Given the description of an element on the screen output the (x, y) to click on. 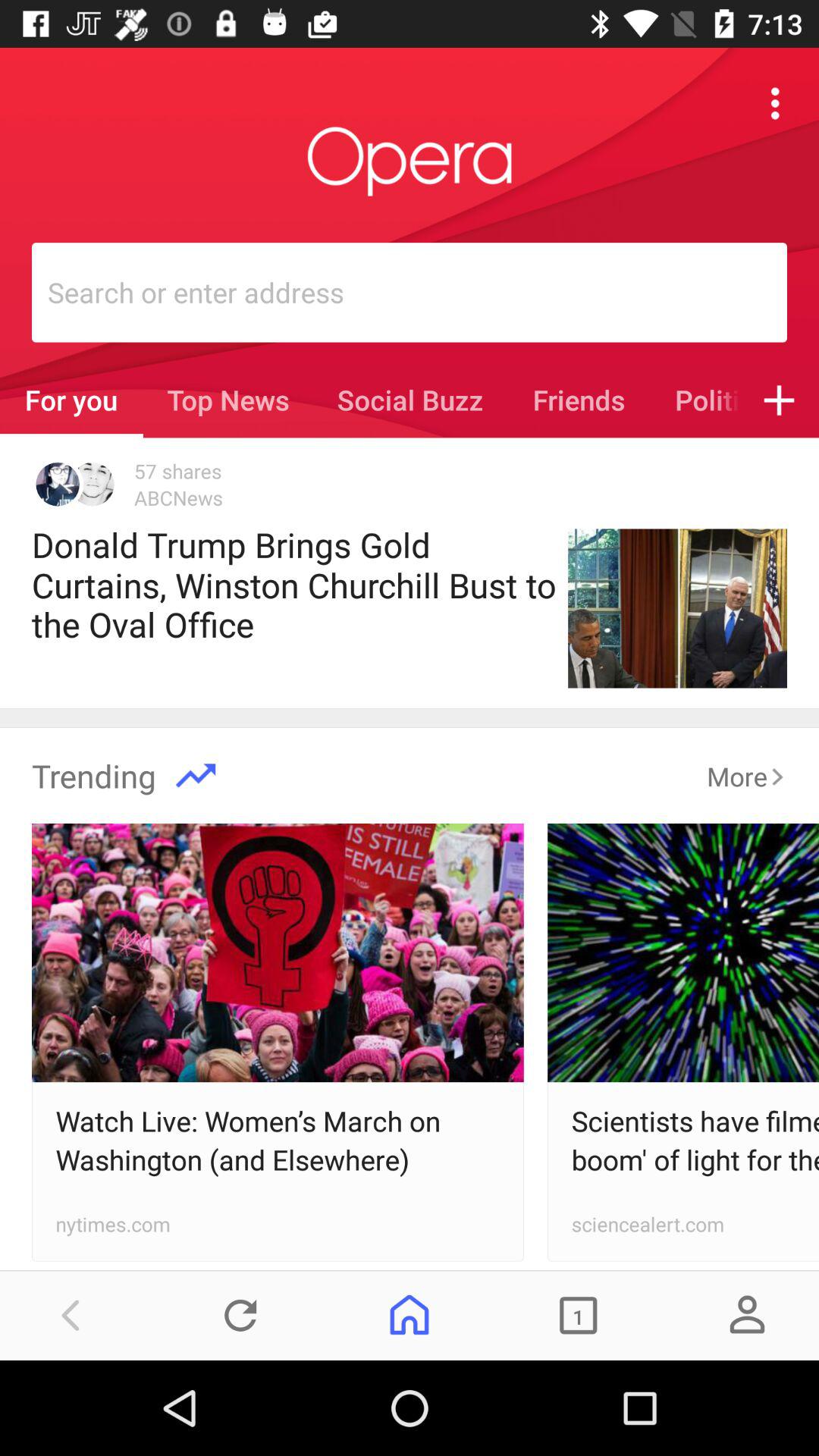
select icon next to politics icon (779, 399)
